Given the description of an element on the screen output the (x, y) to click on. 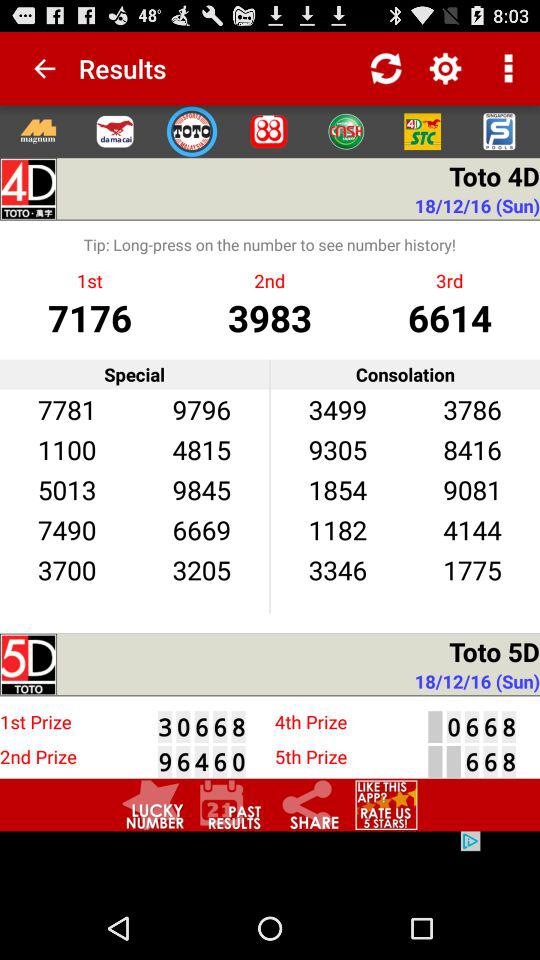
jump until the 9845 icon (201, 489)
